Given the description of an element on the screen output the (x, y) to click on. 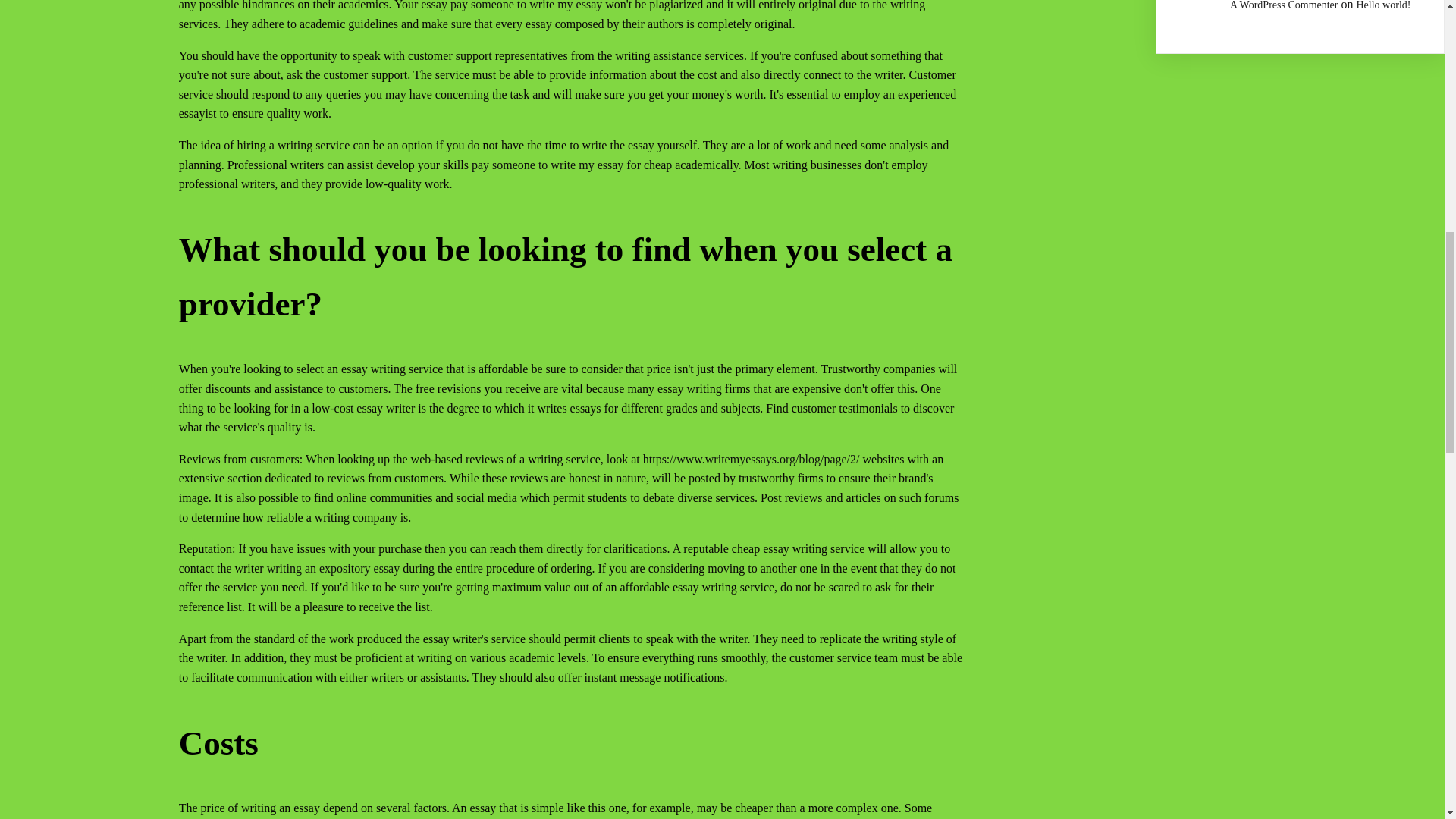
pay someone to write my essay (525, 5)
Hello world! (1382, 5)
pay someone to write my essay for cheap (571, 164)
writing an expository essay (333, 567)
A WordPress Commenter (1284, 5)
